Given the description of an element on the screen output the (x, y) to click on. 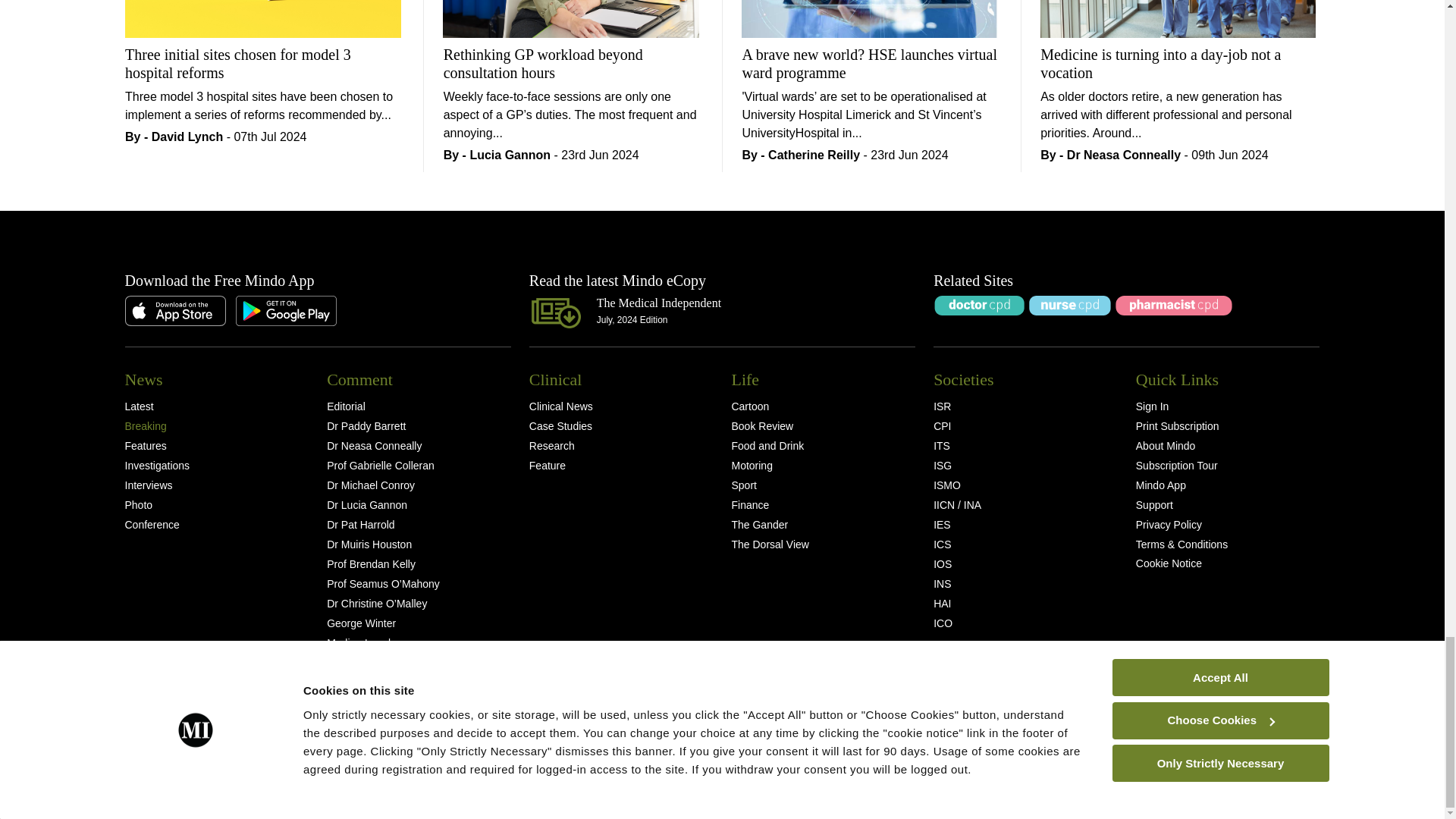
Back to top (149, 746)
